Given the description of an element on the screen output the (x, y) to click on. 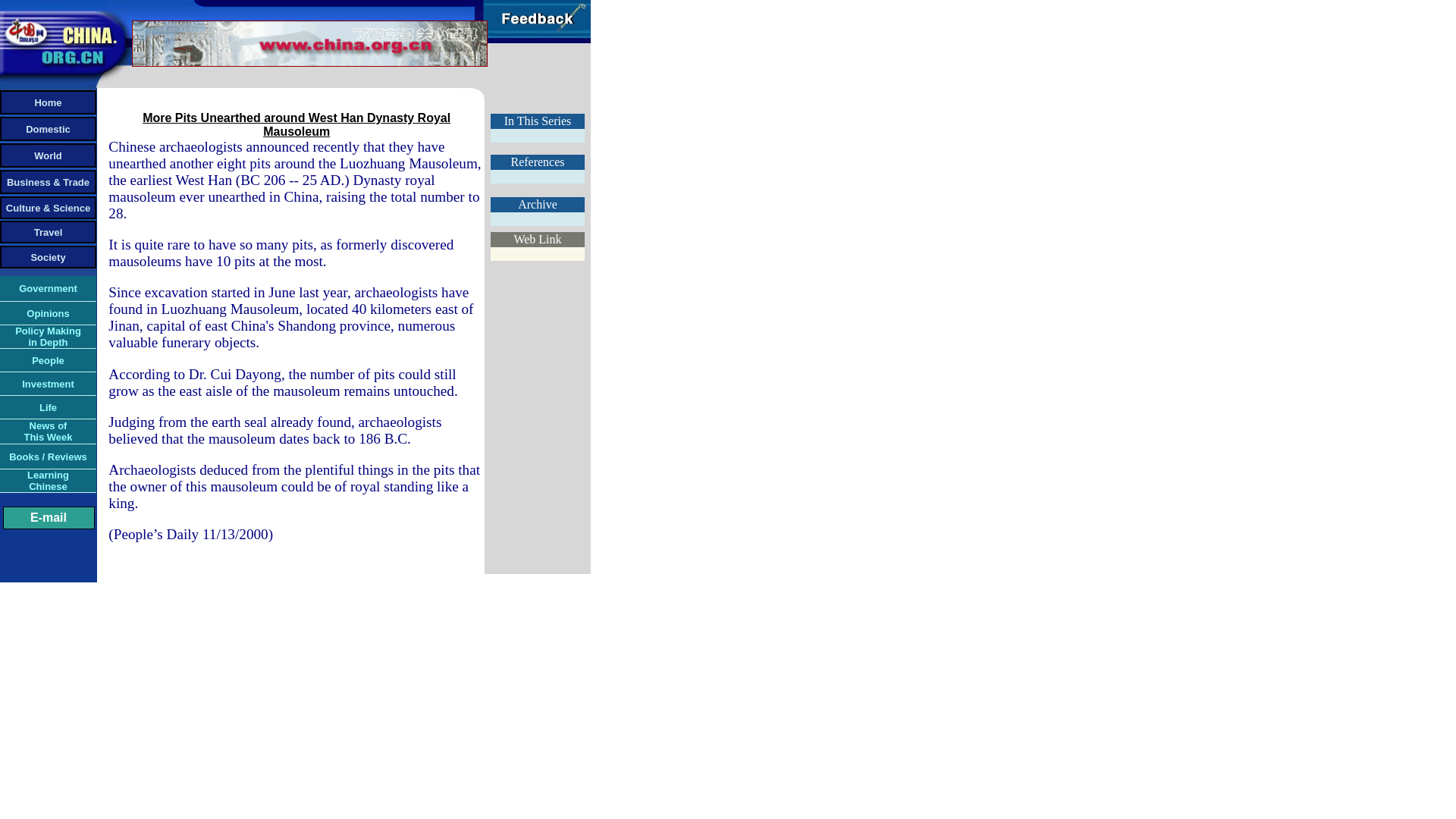
People (48, 359)
Home (47, 102)
Life (47, 406)
Domestic (47, 128)
World (47, 155)
Government (47, 479)
Travel (47, 430)
